Given the description of an element on the screen output the (x, y) to click on. 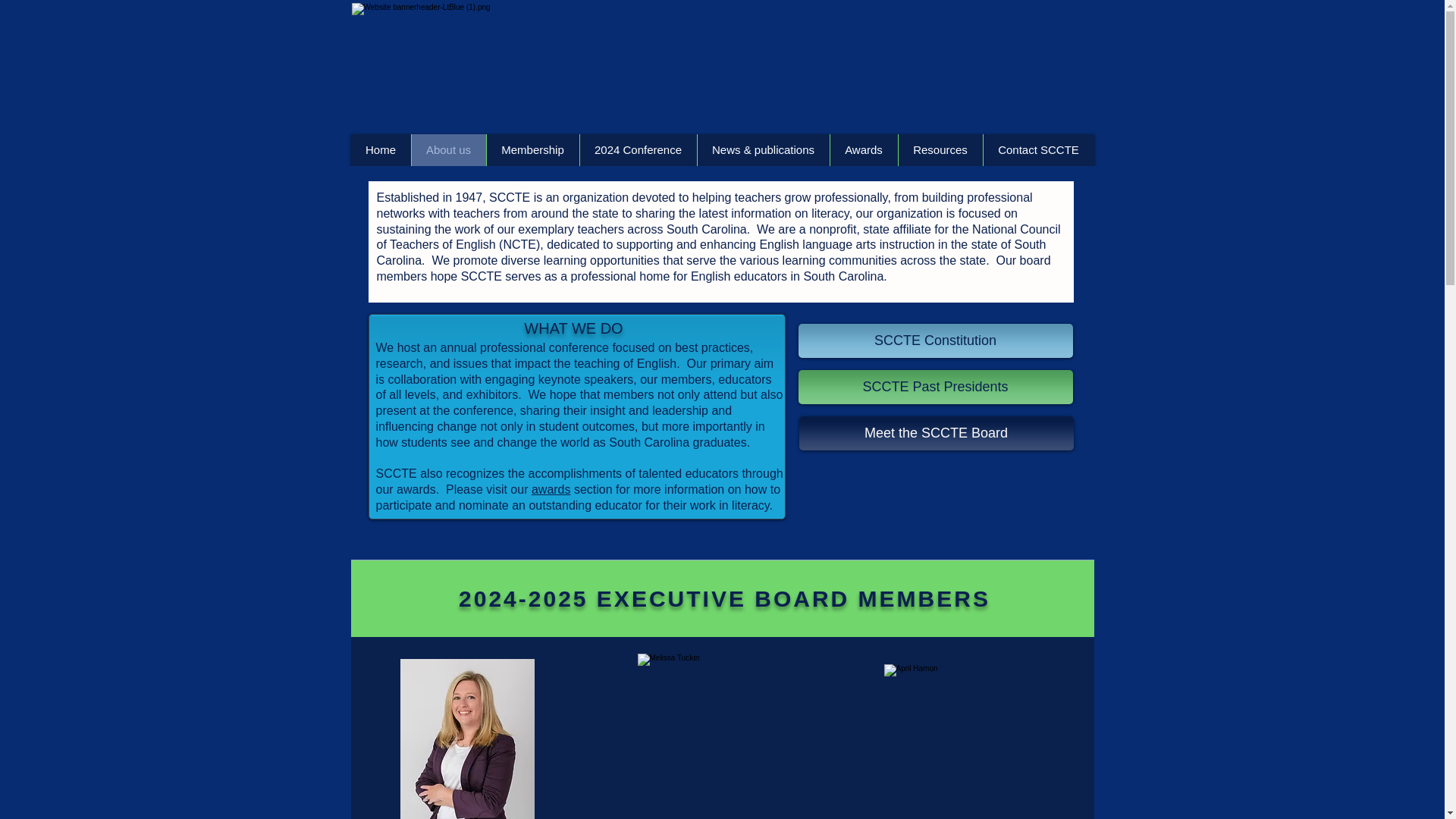
About us (448, 150)
Home (380, 150)
Membership (531, 150)
Awards (863, 150)
SCCTE Constitution (934, 340)
2024 Conference (638, 150)
Meet the SCCTE Board (936, 433)
awards (550, 489)
Contact SCCTE (1038, 150)
SCCTE Past Presidents (934, 387)
Resources (940, 150)
